Given the description of an element on the screen output the (x, y) to click on. 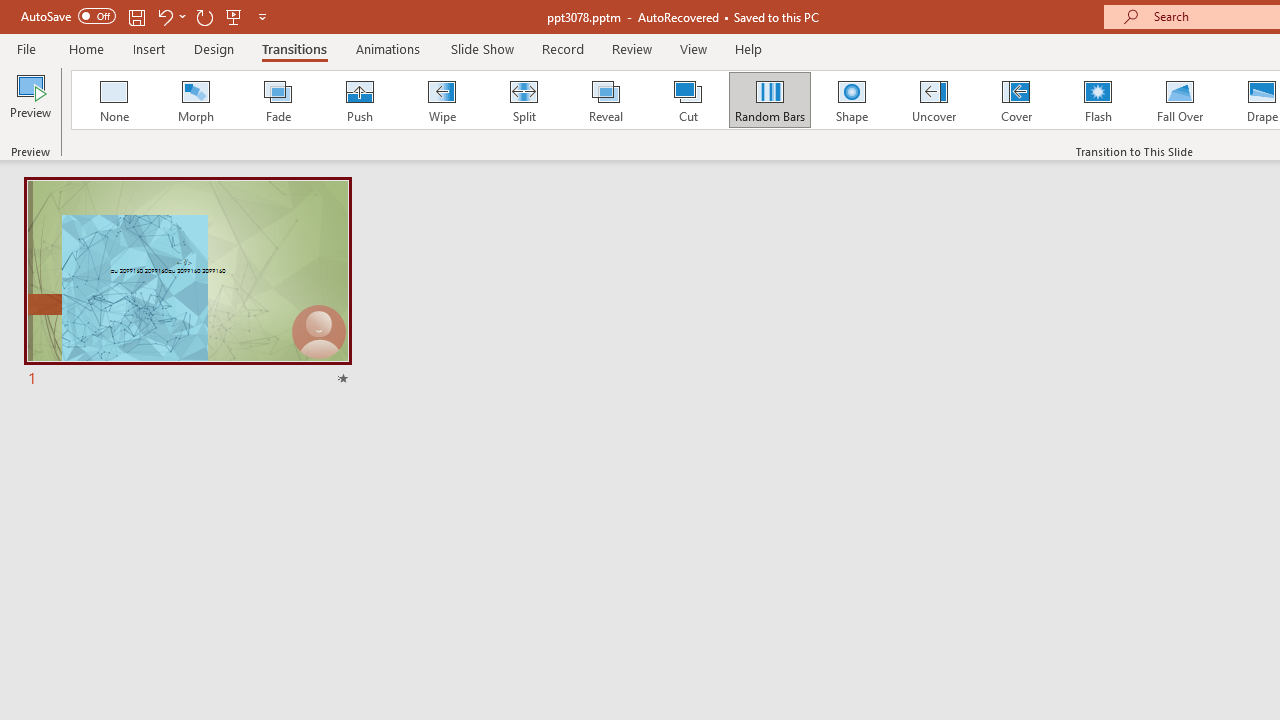
Random Bars (770, 100)
Uncover (934, 100)
Reveal (605, 100)
Split (523, 100)
Fade (277, 100)
Shape (852, 100)
Flash (1098, 100)
